Given the description of an element on the screen output the (x, y) to click on. 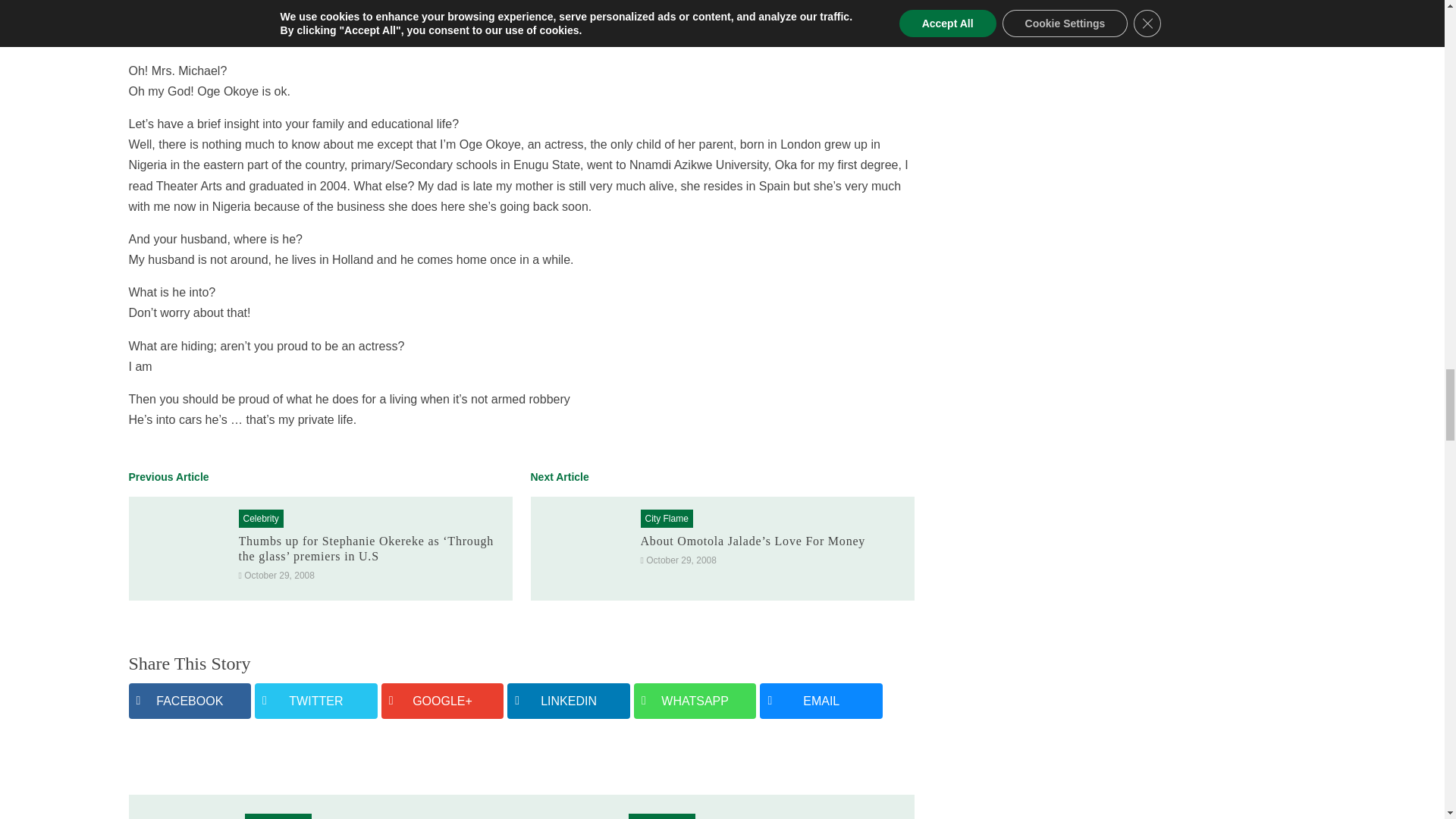
TWITTER (315, 701)
FACEBOOK (190, 701)
City Flame (666, 518)
Celebrity (260, 518)
Celebrity (260, 518)
